Given the description of an element on the screen output the (x, y) to click on. 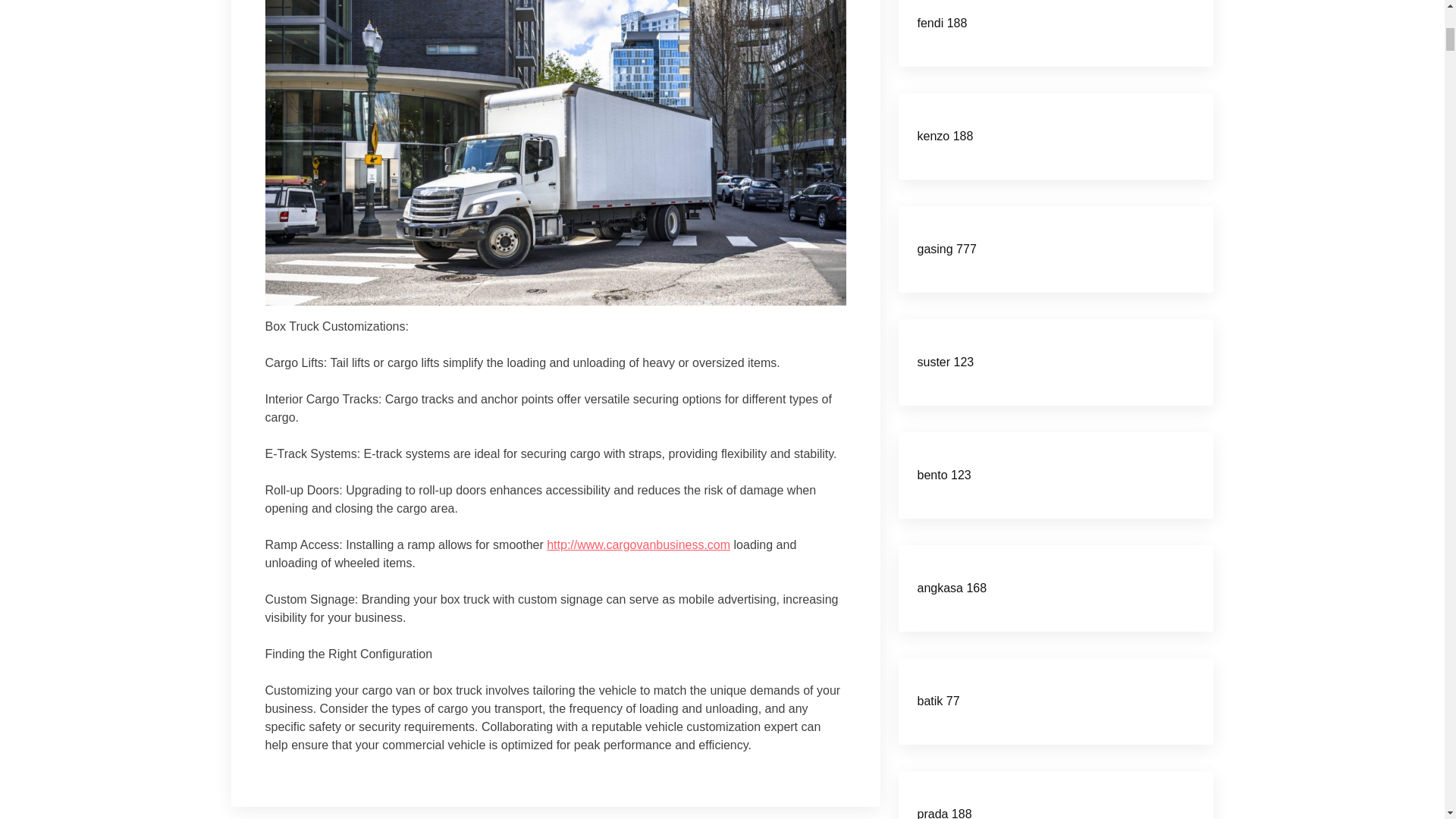
batik 77 (938, 700)
kenzo 188 (945, 135)
bento 123 (944, 474)
gasing 777 (946, 248)
suster 123 (945, 361)
fendi 188 (942, 22)
angkasa 168 (952, 587)
